Given the description of an element on the screen output the (x, y) to click on. 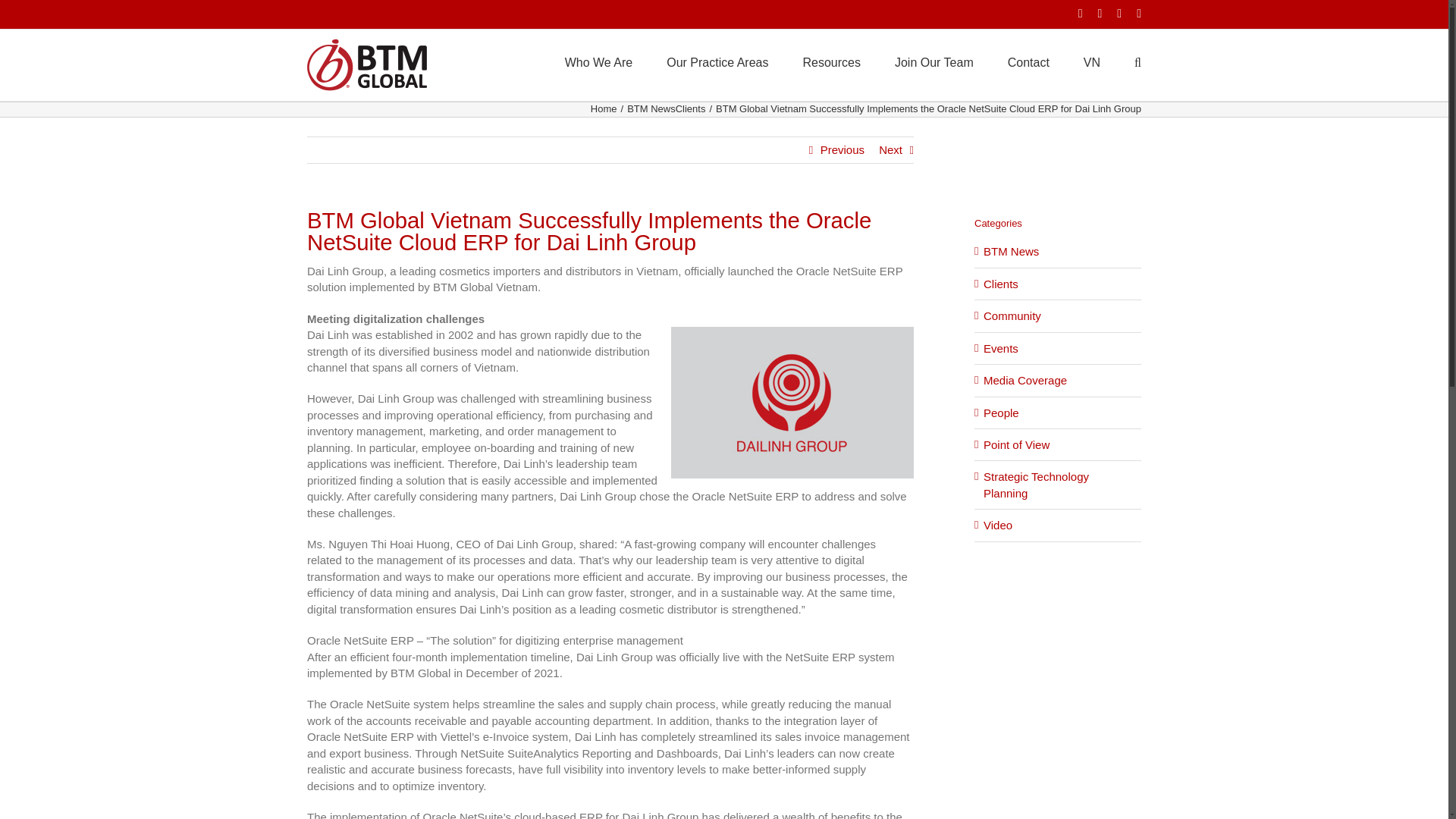
Join Our Team (934, 61)
Resources (831, 61)
Who We Are (598, 61)
Our Practice Areas (717, 61)
